Given the description of an element on the screen output the (x, y) to click on. 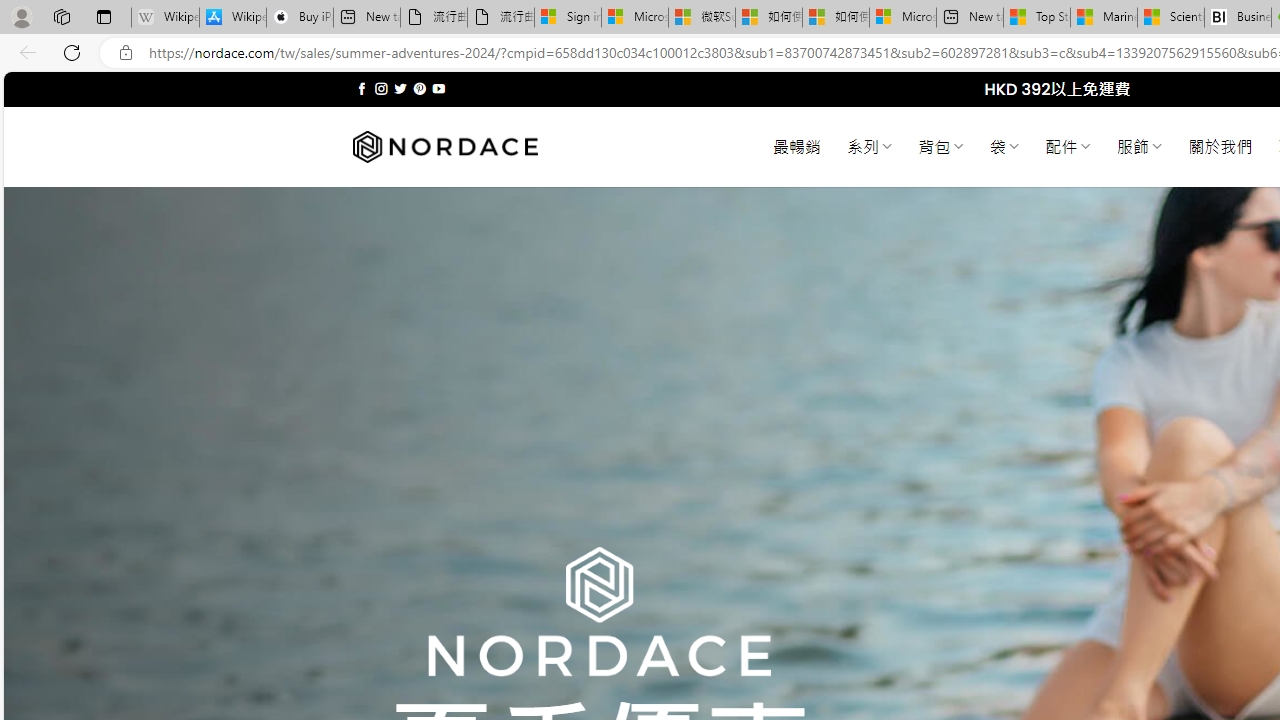
Follow on Pinterest (419, 88)
Follow on YouTube (438, 88)
Follow on Instagram (381, 88)
